Given the description of an element on the screen output the (x, y) to click on. 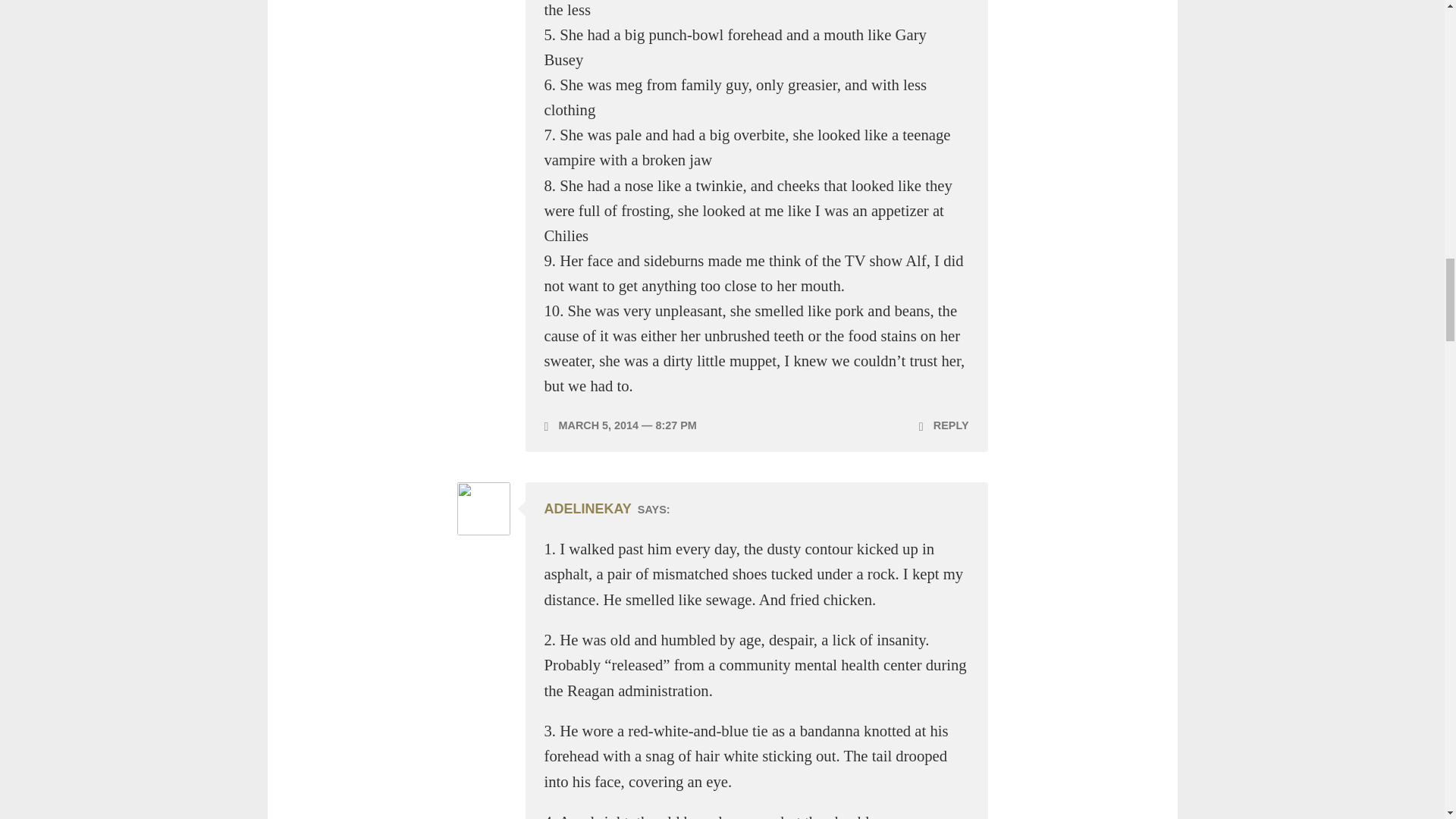
REPLY (943, 425)
ADELINEKAY (587, 508)
